Given the description of an element on the screen output the (x, y) to click on. 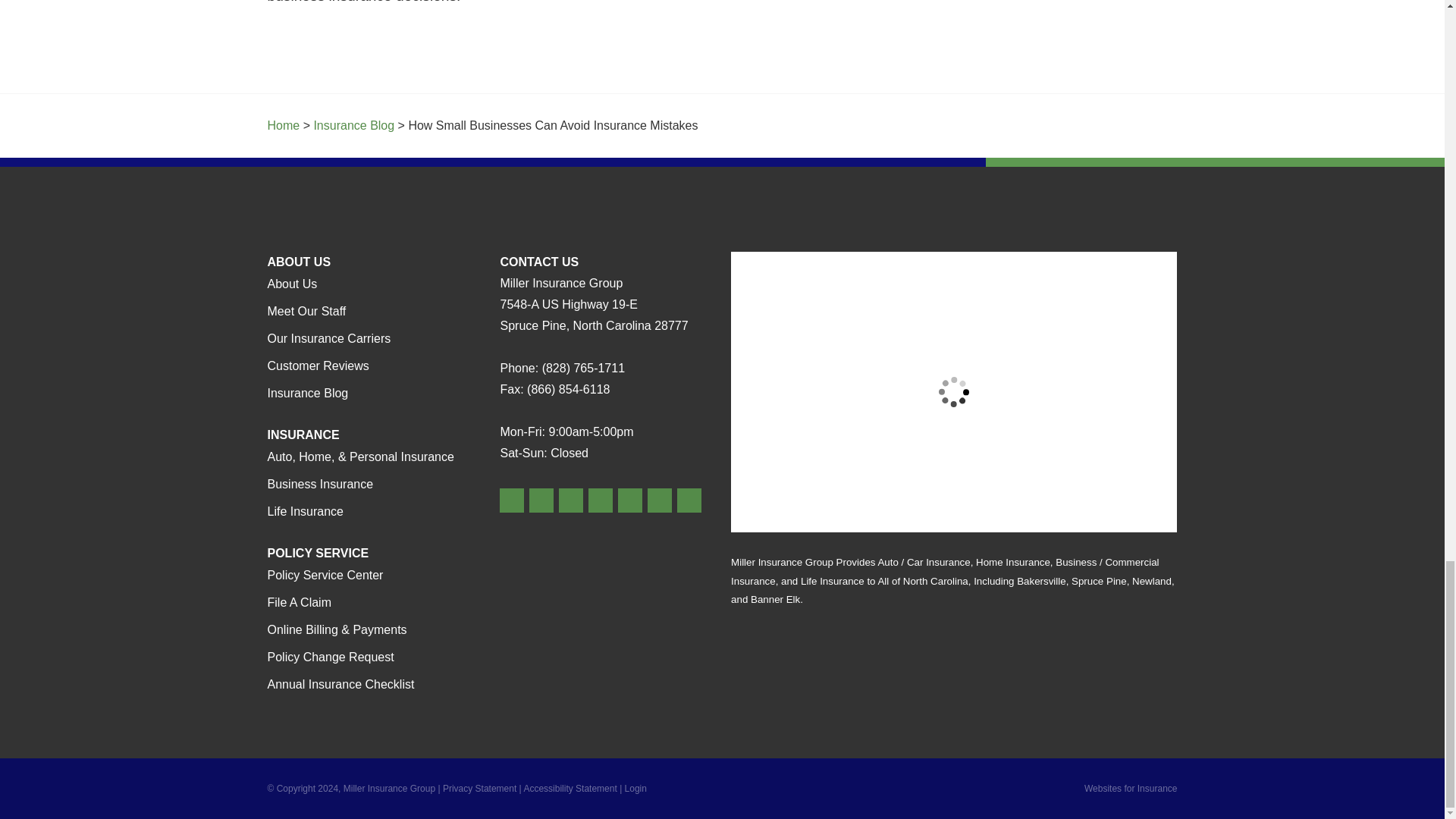
Yelp (541, 500)
Facebook (571, 500)
LinkedIn (629, 500)
Instagram (689, 500)
YouTube (659, 500)
Google Maps (511, 500)
X (600, 500)
